Given the description of an element on the screen output the (x, y) to click on. 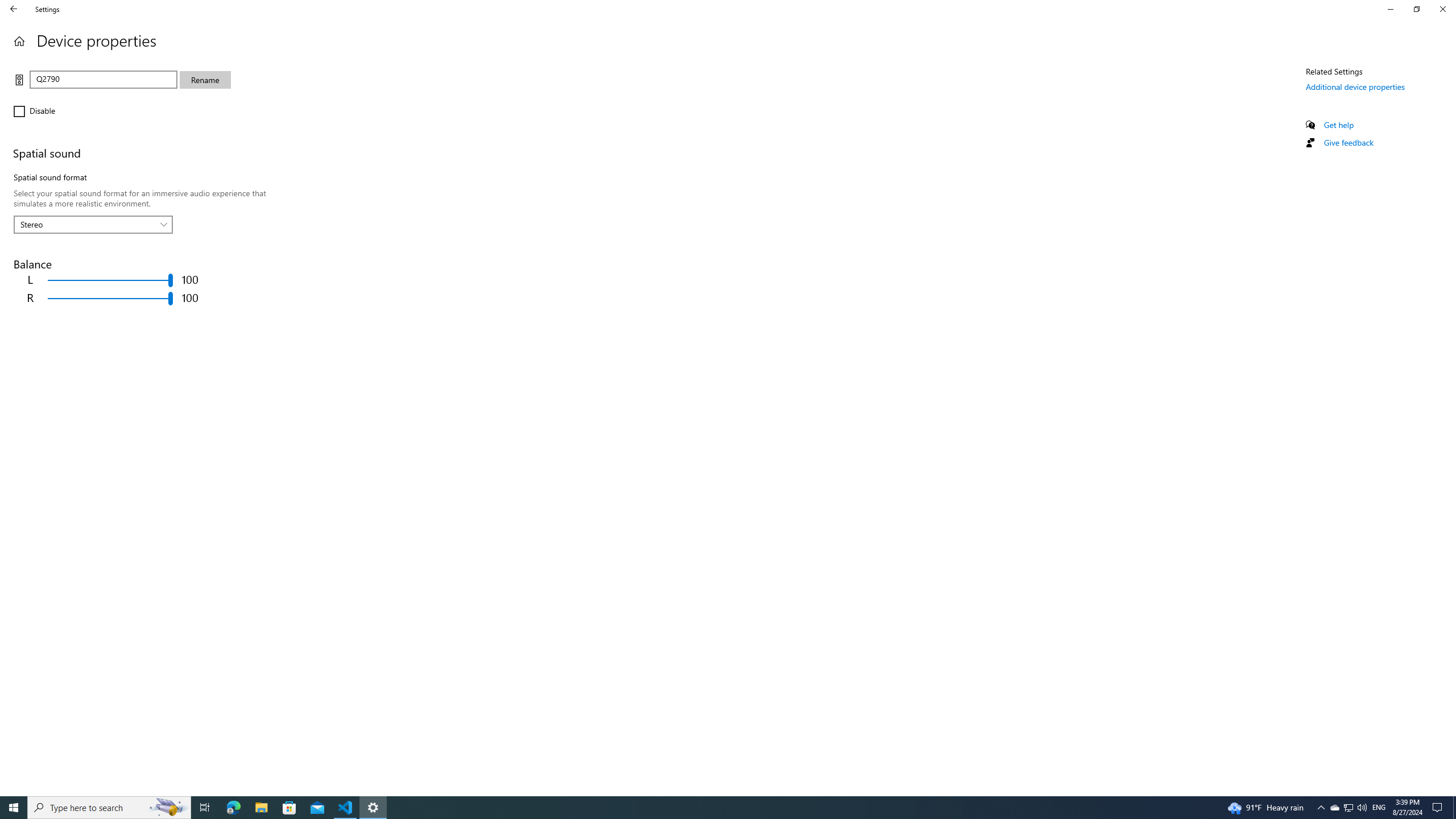
Visual Studio Code - 1 running window (345, 807)
File Explorer (261, 807)
Microsoft Store (289, 807)
Rename (205, 79)
